Given the description of an element on the screen output the (x, y) to click on. 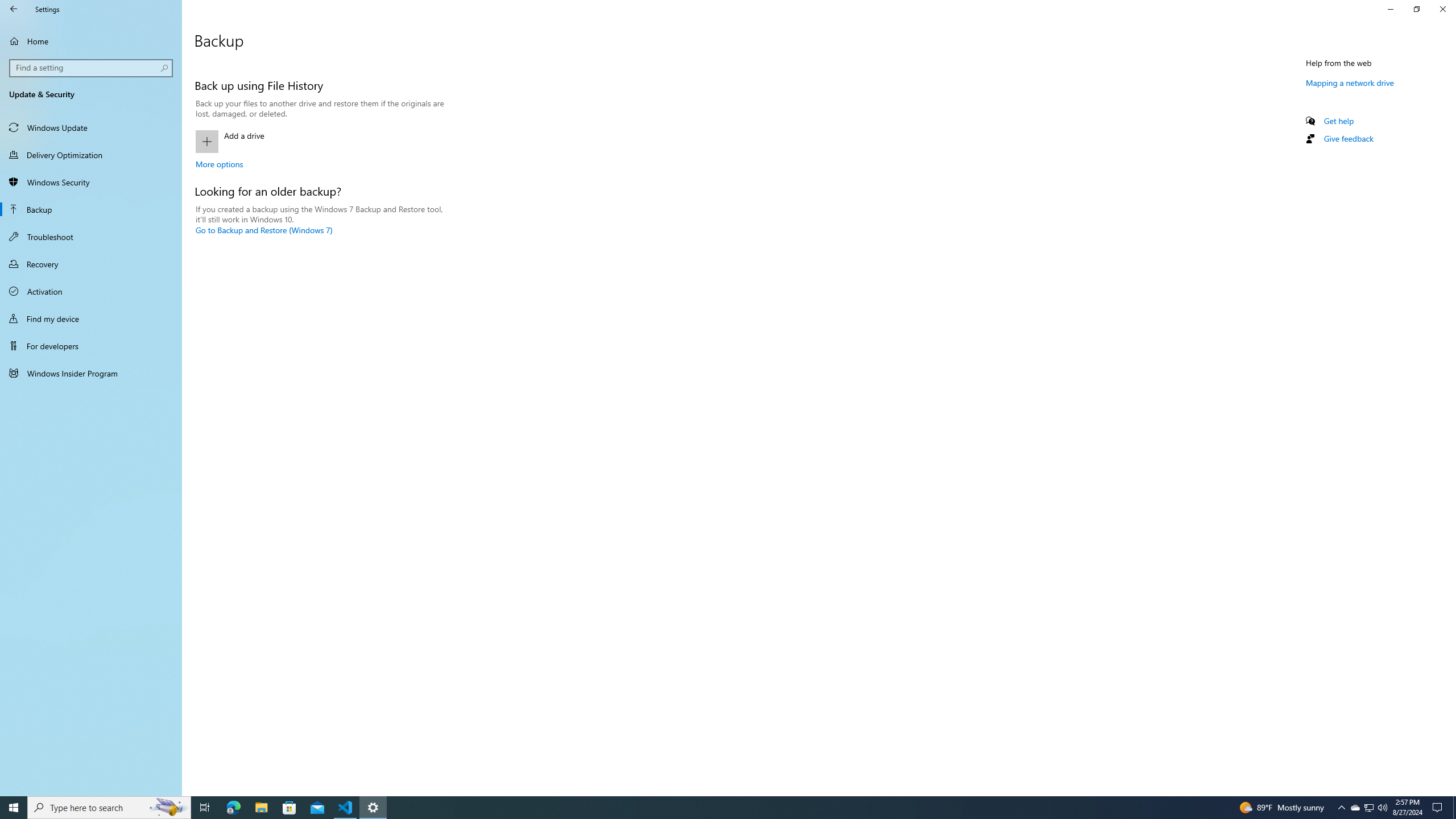
Windows Update (91, 126)
Recovery (91, 263)
Mapping a network drive (1350, 82)
For developers (91, 345)
Windows Security (91, 181)
